Given the description of an element on the screen output the (x, y) to click on. 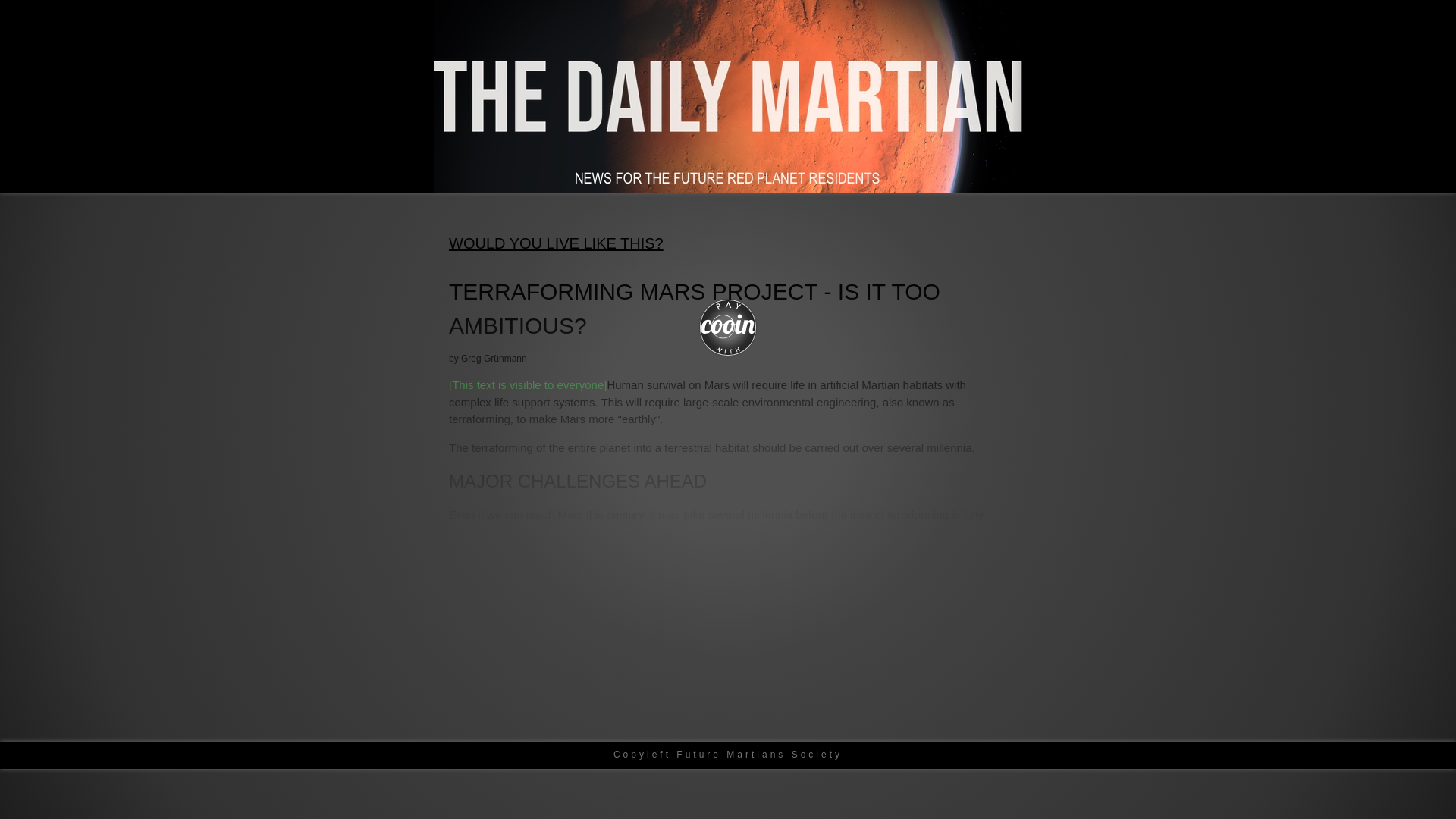
WOULD YOU LIVE LIKE THIS? (555, 243)
